Given the description of an element on the screen output the (x, y) to click on. 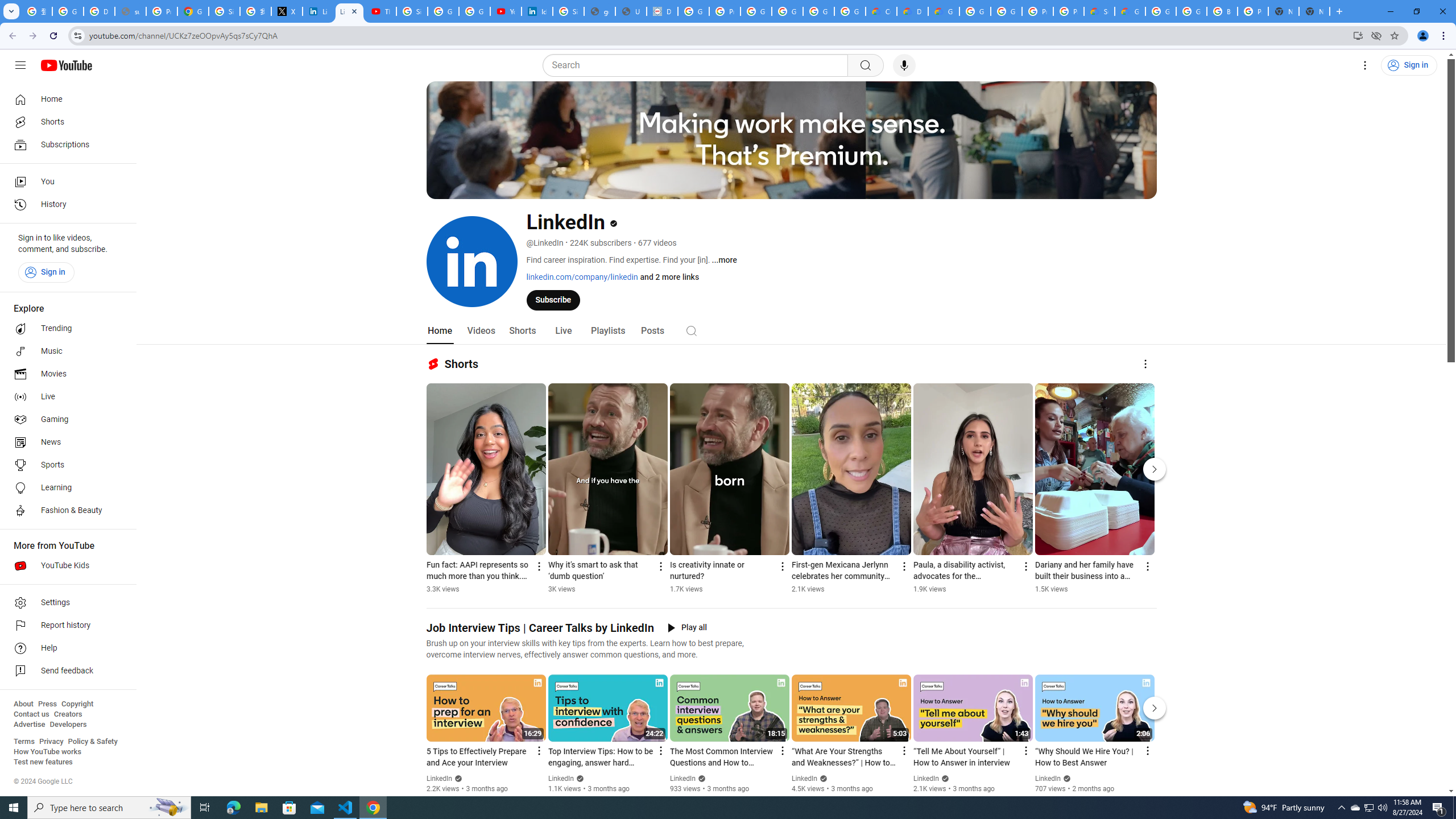
Google Workspace - Specific Terms (818, 11)
Google Cloud Service Health (1129, 11)
and 2 more links (668, 276)
Creators (67, 714)
User Details (631, 11)
Google Cloud Platform (1005, 11)
Job Interview Tips | Career Talks by LinkedIn (539, 627)
